Given the description of an element on the screen output the (x, y) to click on. 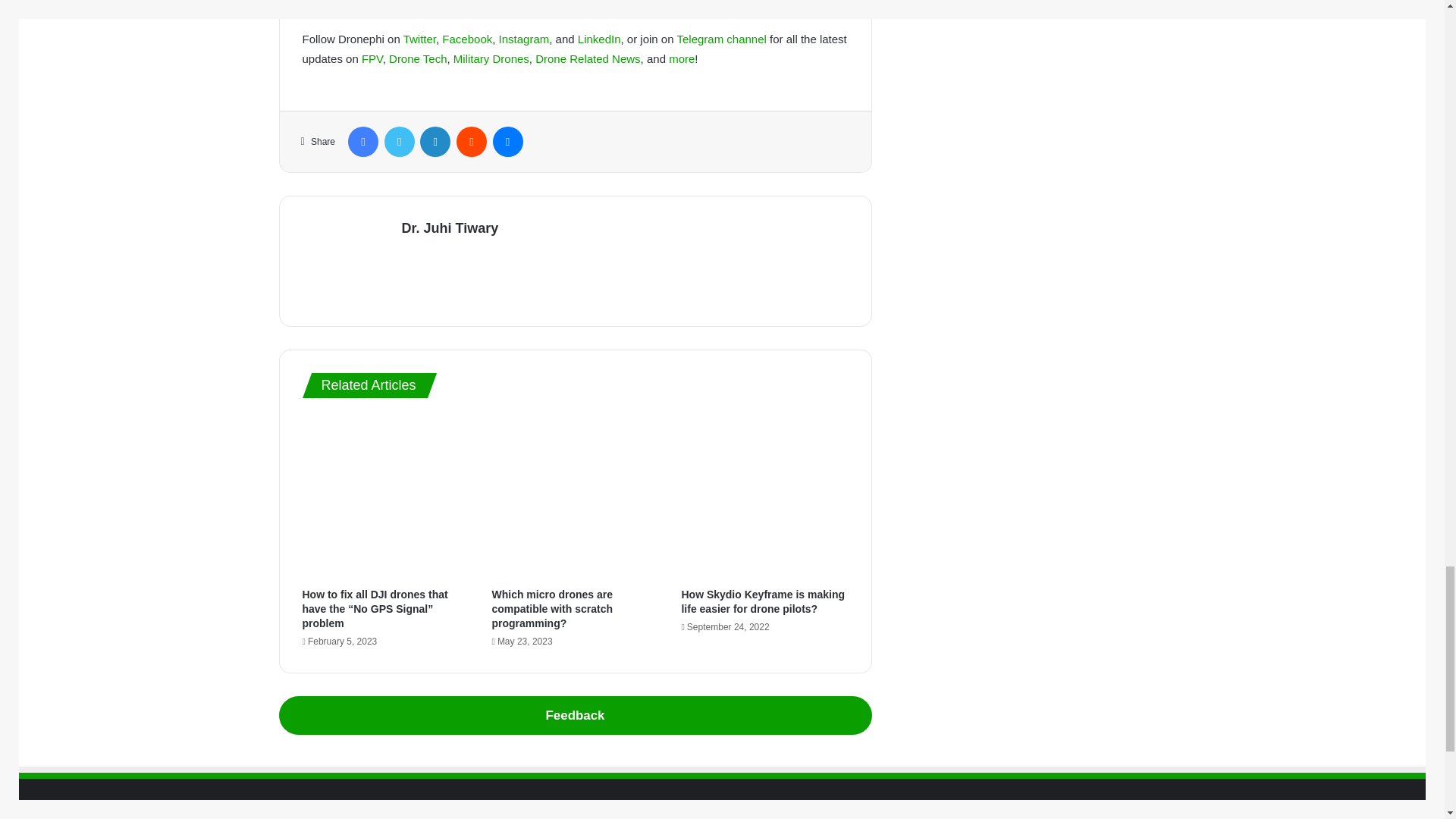
FPV (371, 58)
Facebook (467, 38)
Telegram channel (721, 38)
LinkedIn (599, 38)
Twitter (419, 38)
Instagram (524, 38)
